Given the description of an element on the screen output the (x, y) to click on. 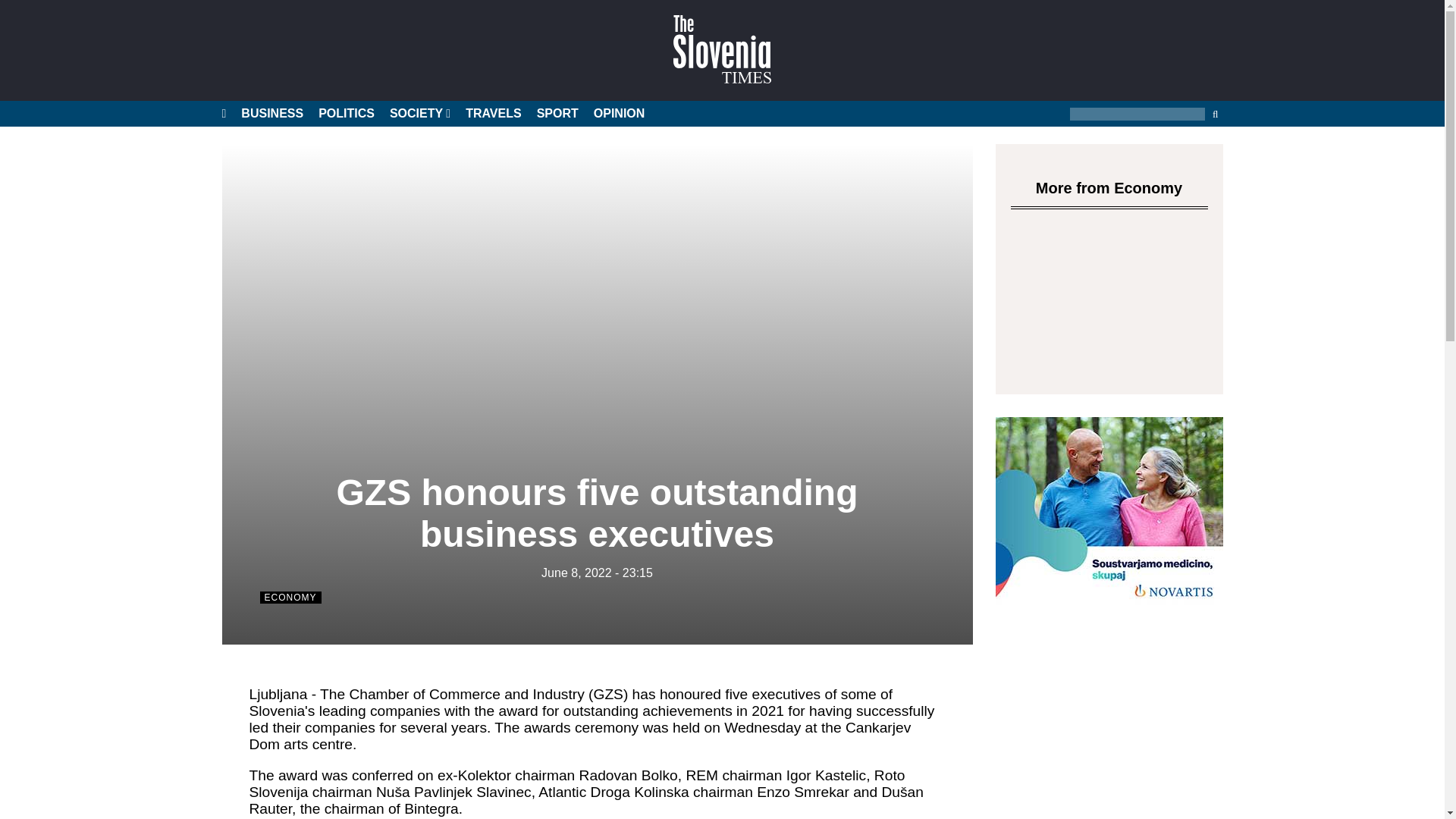
BUSINESS (271, 113)
OPINION (619, 113)
POLITICS (346, 113)
TRAVELS (493, 113)
SPORT (557, 113)
